Given the description of an element on the screen output the (x, y) to click on. 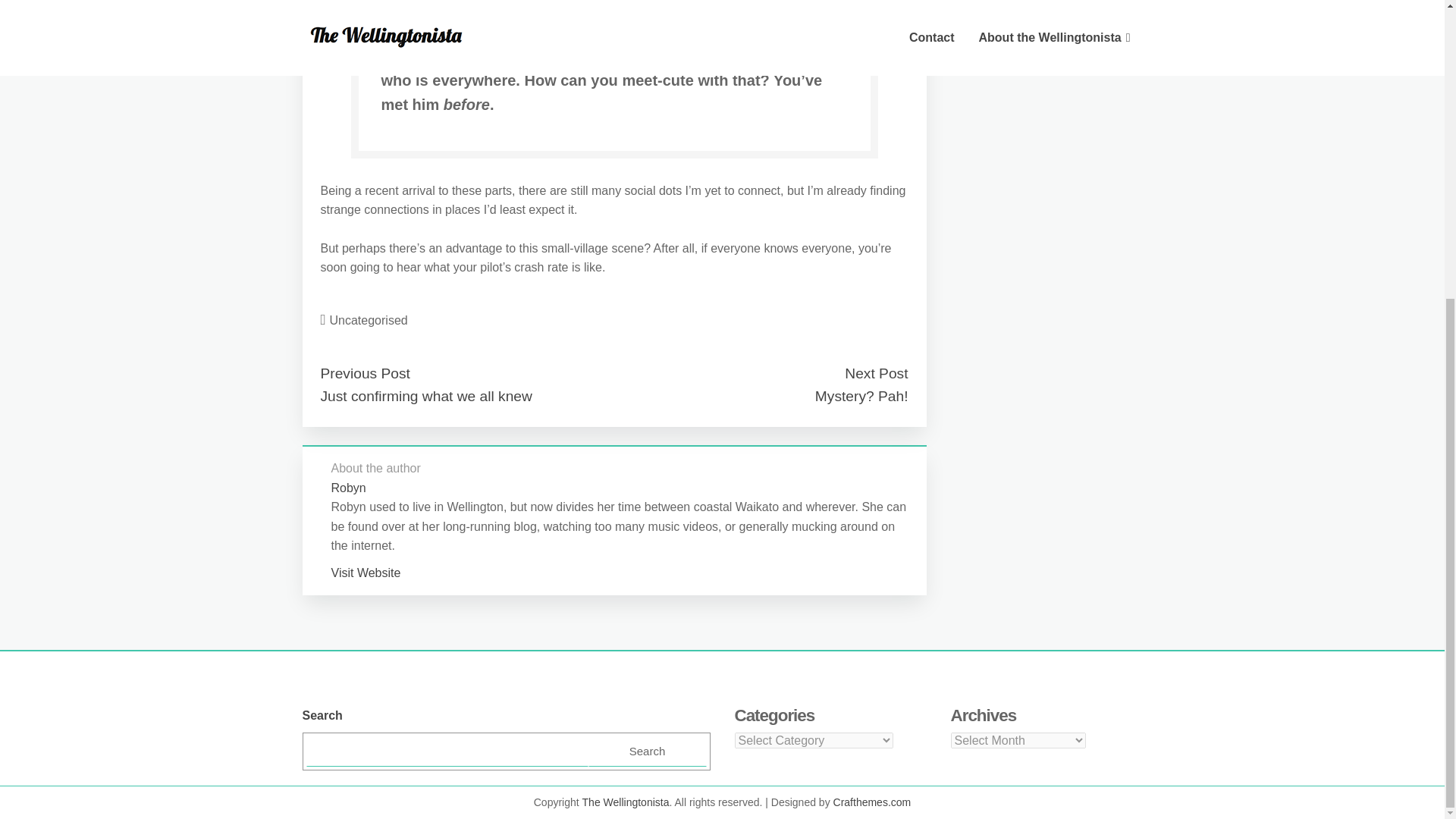
Visit Website (365, 572)
Previous Post (364, 373)
Crafthemes.com (871, 802)
Robyn (347, 487)
Just confirming what we all knew (425, 396)
The Wellingtonista (625, 802)
Next Post (875, 373)
Search (647, 751)
Mystery? Pah! (861, 396)
